Given the description of an element on the screen output the (x, y) to click on. 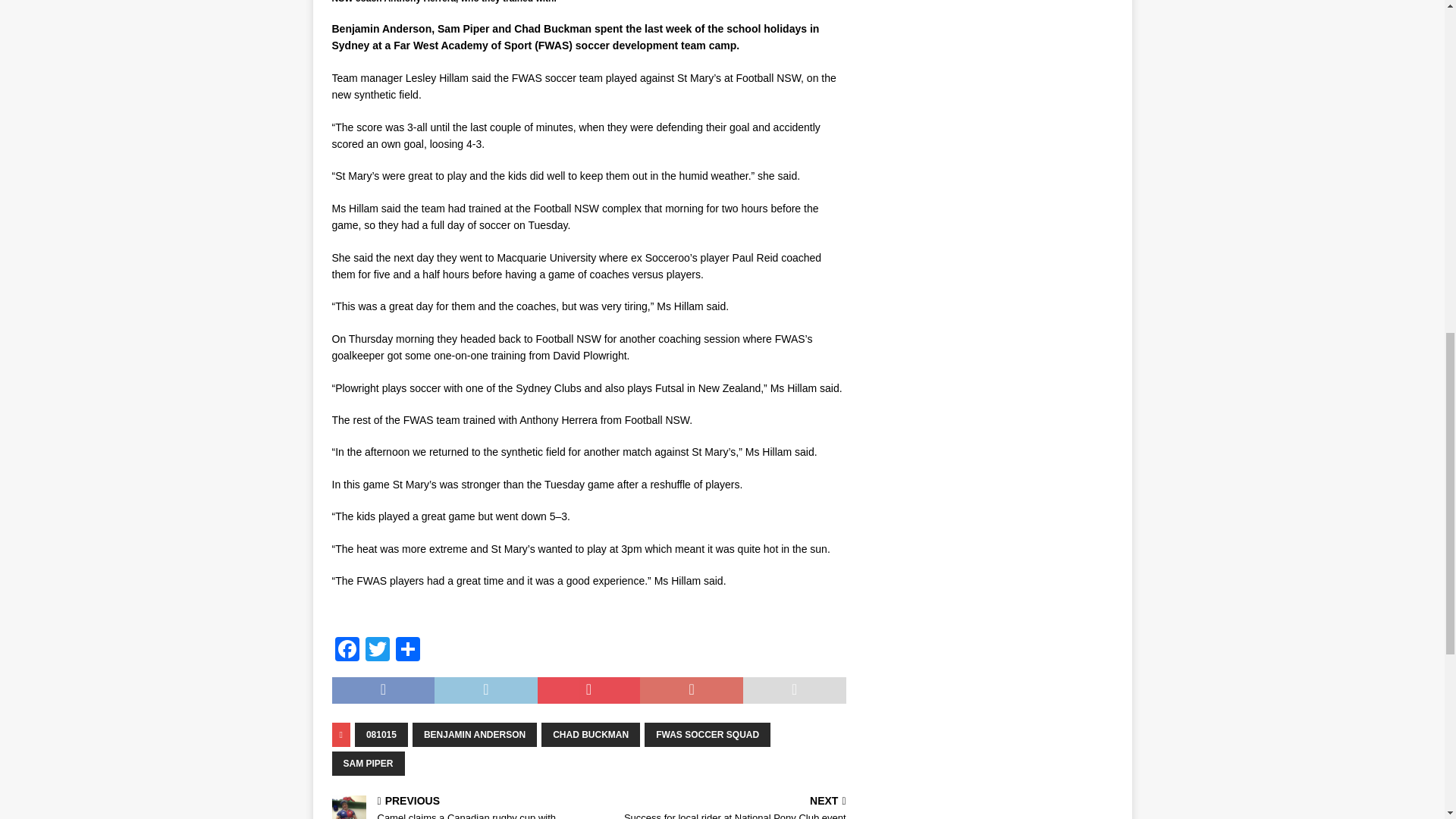
Facebook (346, 651)
Facebook (346, 651)
BENJAMIN ANDERSON (474, 734)
Twitter (377, 651)
FWAS SOCCER SQUAD (707, 734)
081015 (381, 734)
Twitter (377, 651)
CHAD BUCKMAN (590, 734)
Share (408, 651)
